Given the description of an element on the screen output the (x, y) to click on. 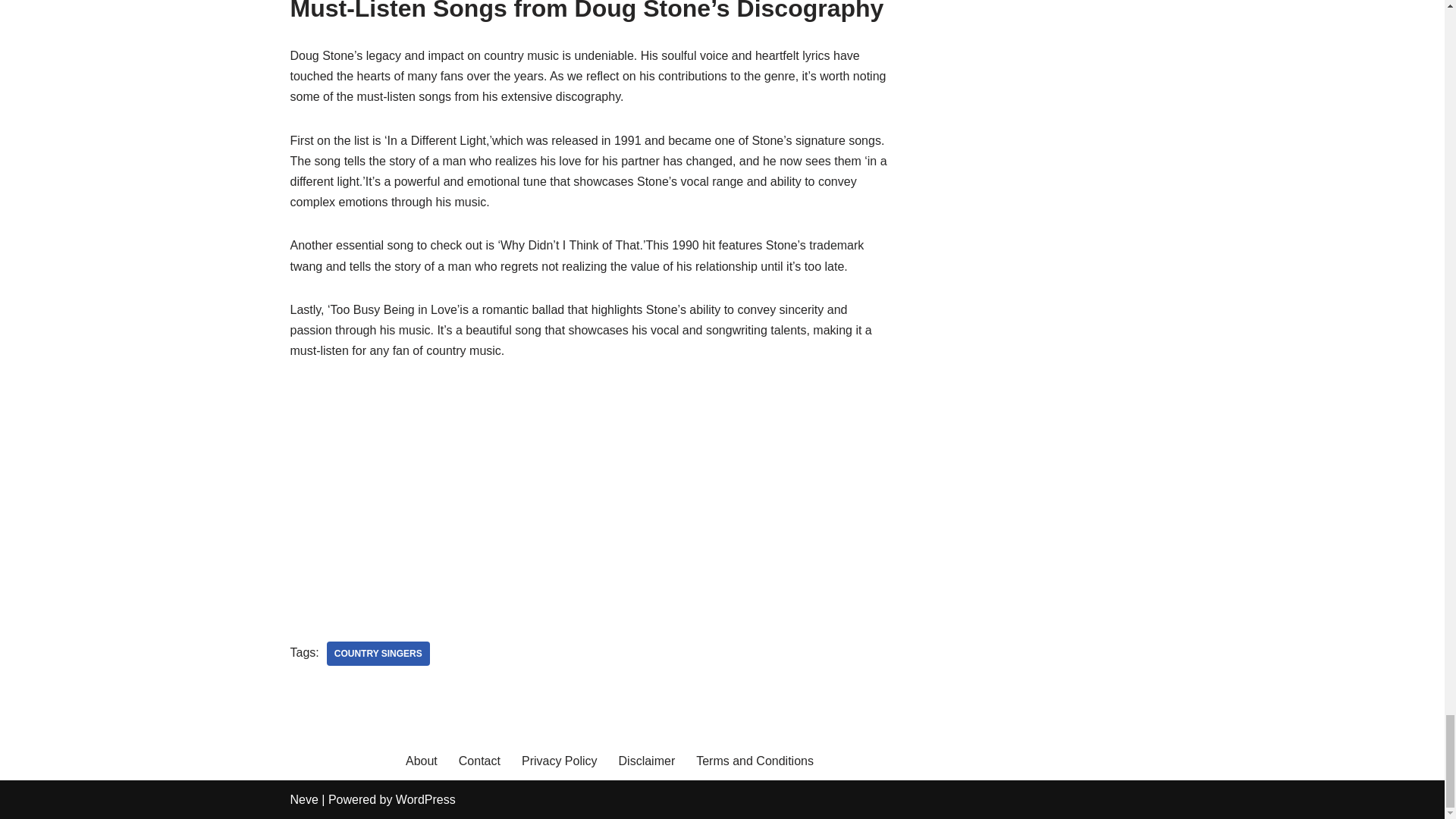
COUNTRY SINGERS (377, 653)
Country Singers (377, 653)
